Given the description of an element on the screen output the (x, y) to click on. 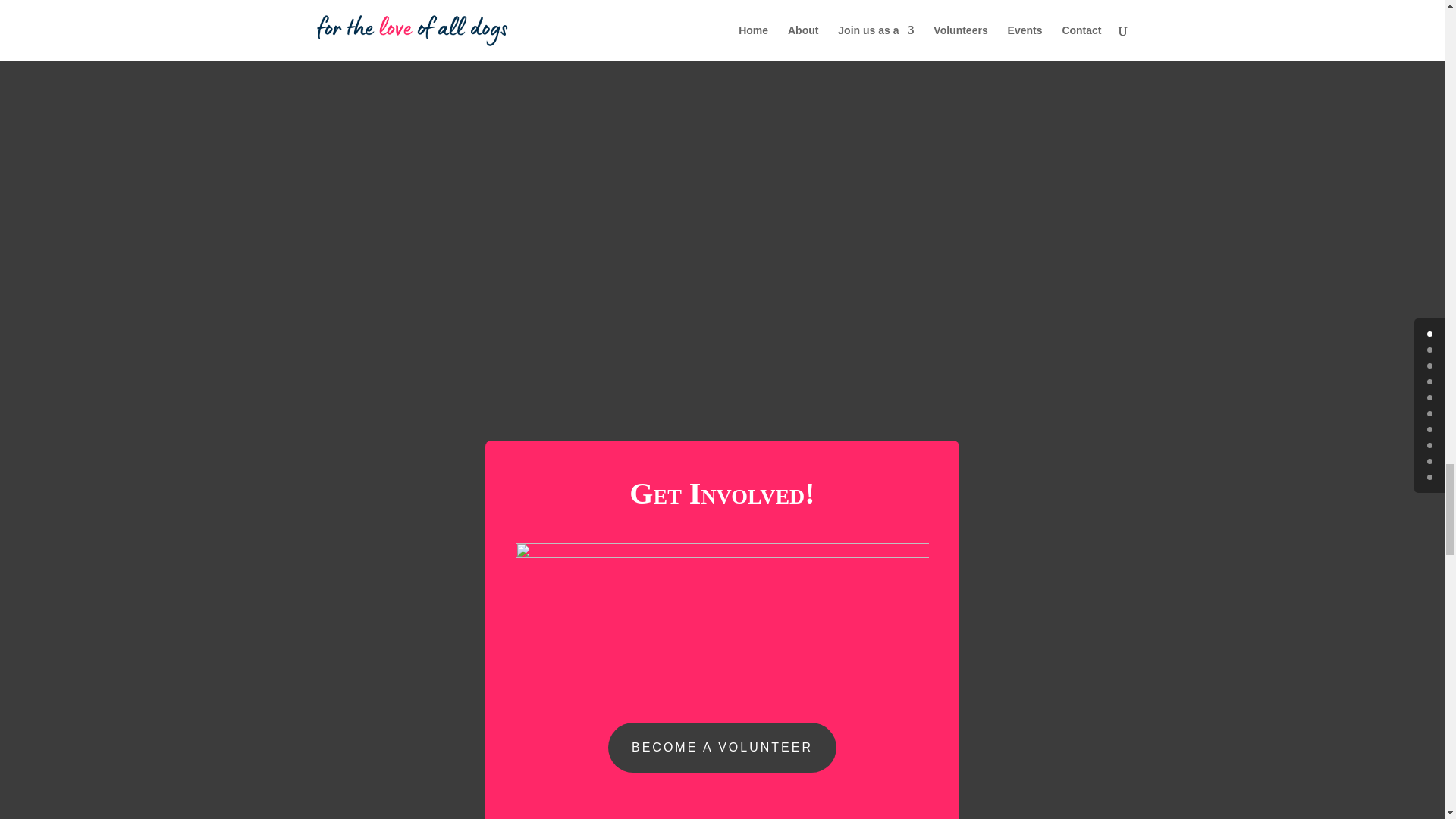
BECOME A VOLUNTEER (721, 747)
